Given the description of an element on the screen output the (x, y) to click on. 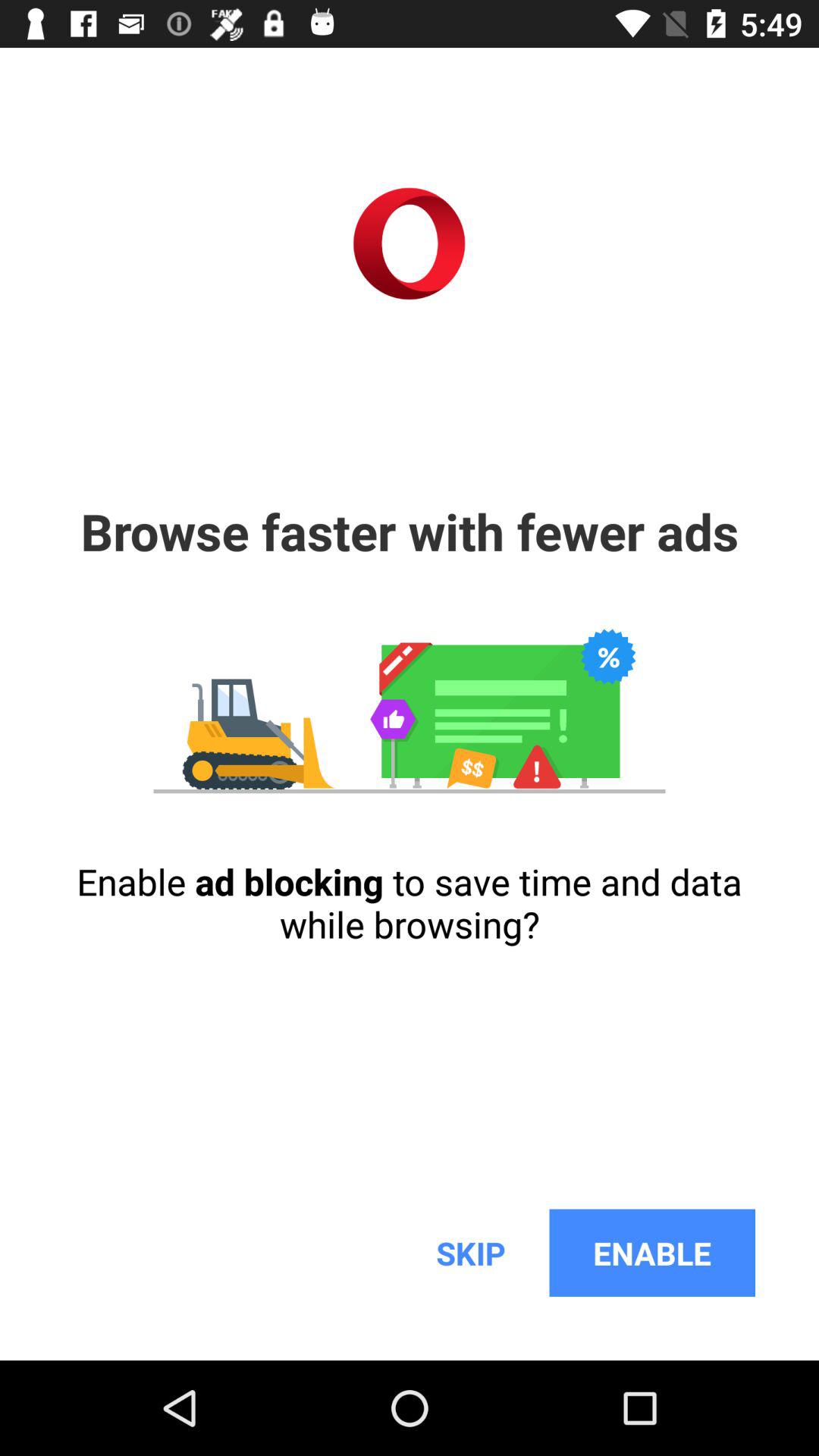
swipe until skip (470, 1252)
